Given the description of an element on the screen output the (x, y) to click on. 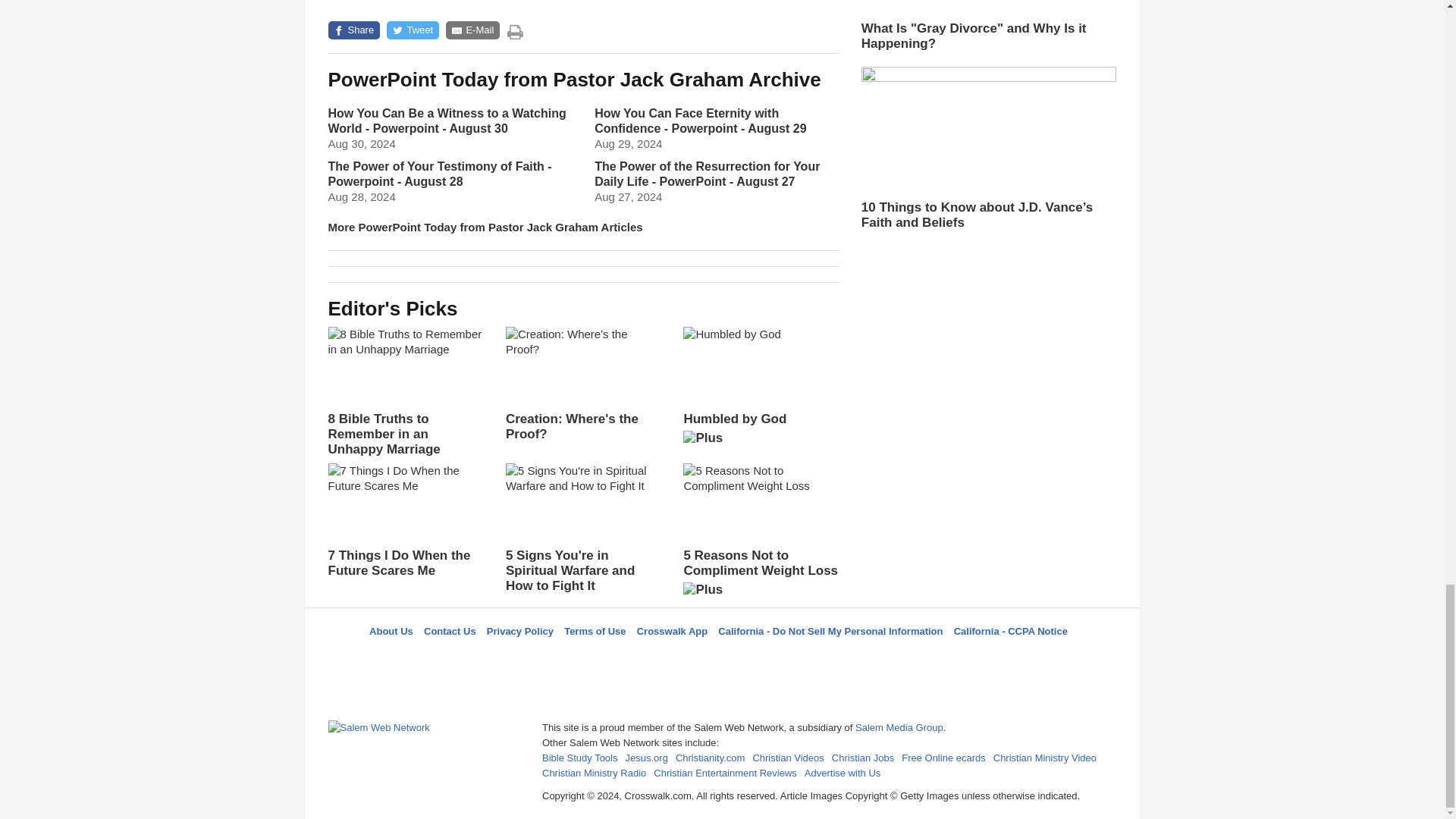
LifeAudio (719, 658)
Pinterest (757, 658)
Facebook (645, 658)
Creation: Where's the Proof? (583, 384)
Twitter (683, 658)
8 Bible Truths to Remember in an Unhappy Marriage (404, 391)
7 Things I Do When the Future Scares Me (404, 520)
Humbled by God (760, 390)
5 Reasons Not to Compliment Weight Loss (760, 535)
5 Signs You're in Spiritual Warfare and How to Fight It (583, 528)
